Given the description of an element on the screen output the (x, y) to click on. 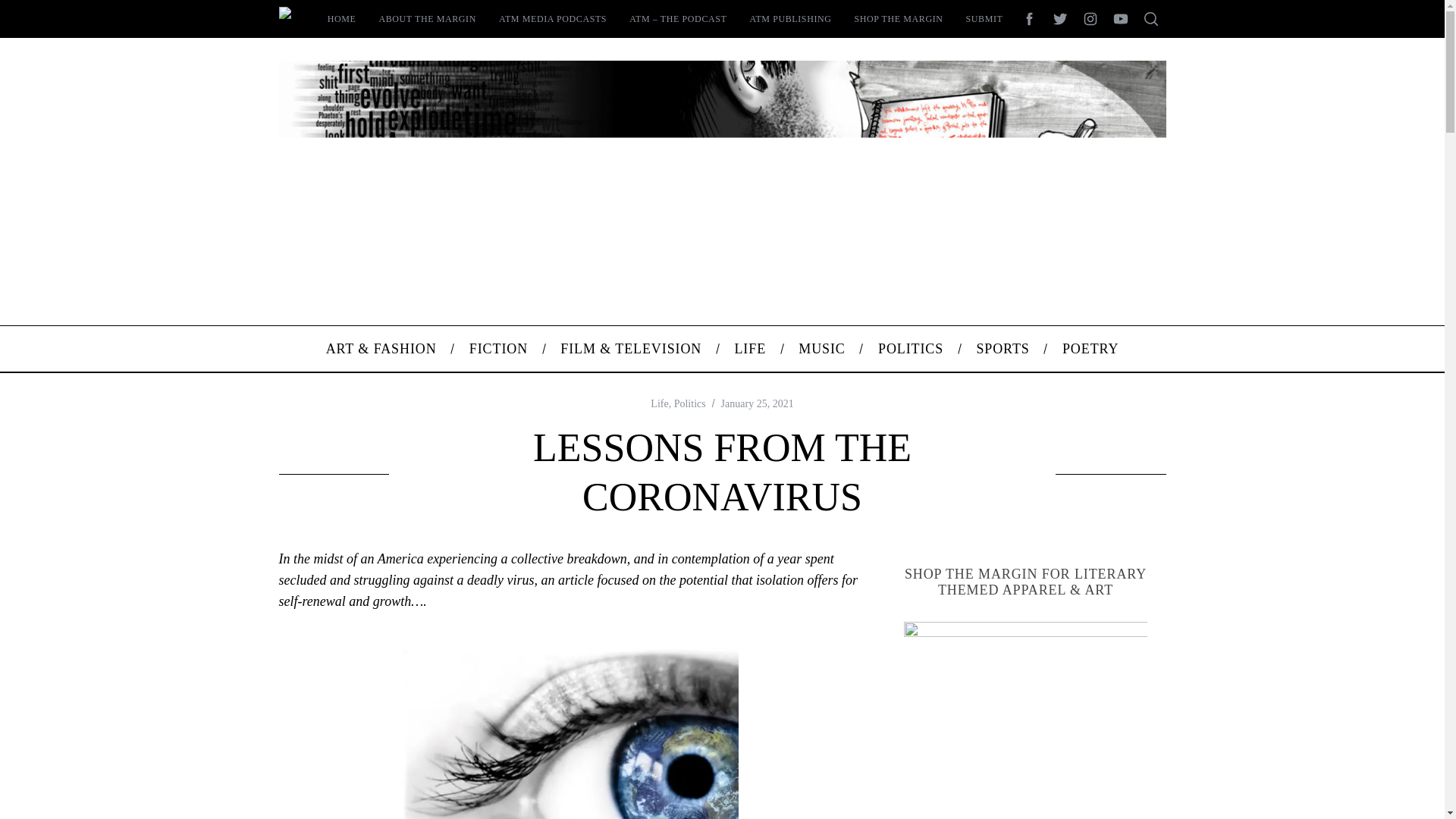
SPORTS (1002, 348)
ABOUT THE MARGIN (426, 18)
Life (659, 403)
SUBMIT (984, 18)
POETRY (1090, 348)
ATM PUBLISHING (790, 18)
ATM MEDIA PODCASTS (552, 18)
LIFE (750, 348)
Politics (690, 403)
POLITICS (910, 348)
MUSIC (822, 348)
HOME (341, 18)
SHOP THE MARGIN! (1026, 720)
FICTION (498, 348)
SHOP THE MARGIN (899, 18)
